Given the description of an element on the screen output the (x, y) to click on. 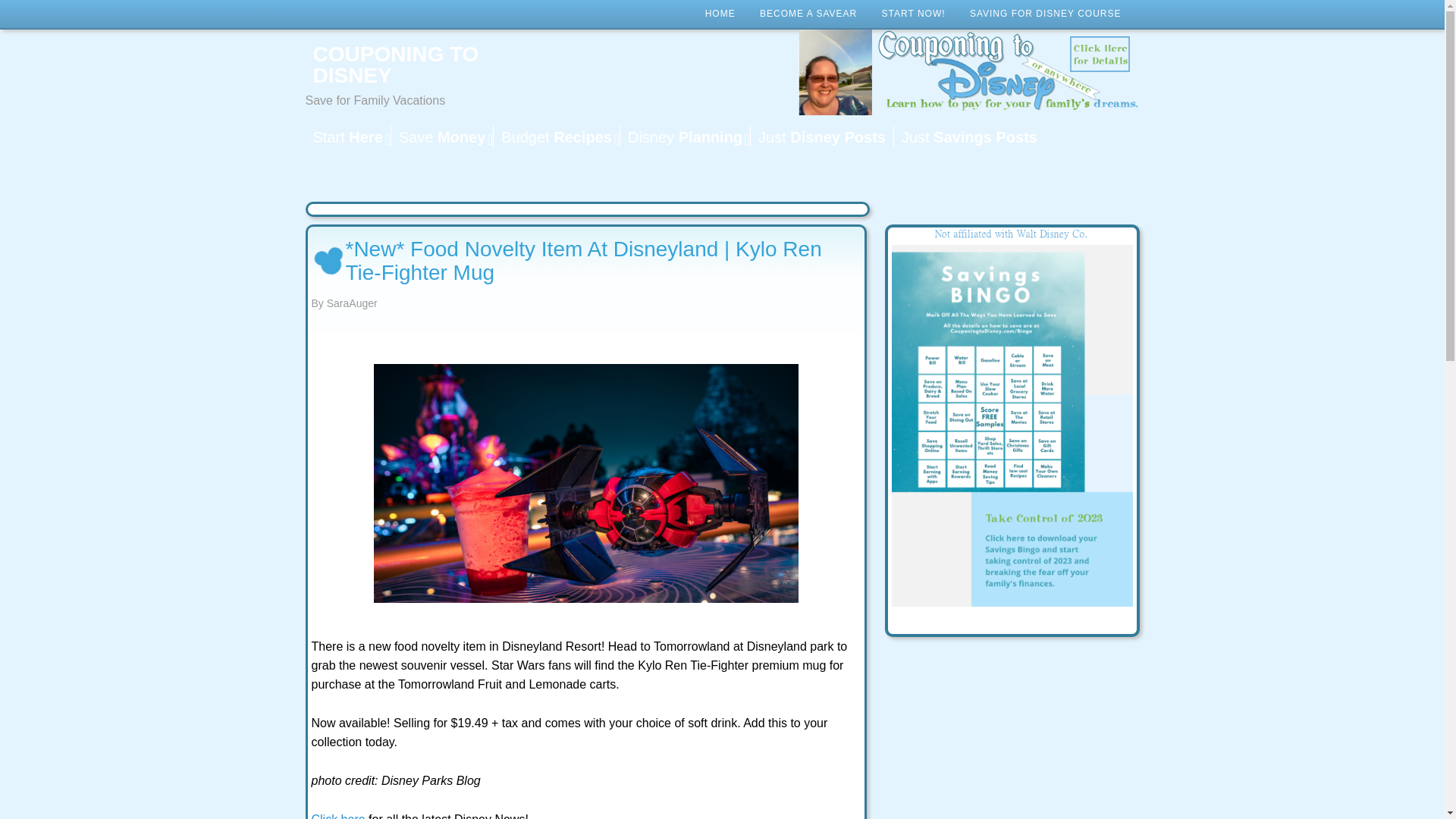
HOME (719, 13)
money (441, 136)
SAVING FOR DISNEY COURSE (1045, 13)
Budget Recipes (556, 136)
Start Here  (347, 136)
COUPONING TO DISNEY (425, 64)
Start Here (347, 136)
BECOME A SAVEAR (808, 13)
Disney Planning (684, 136)
